Given the description of an element on the screen output the (x, y) to click on. 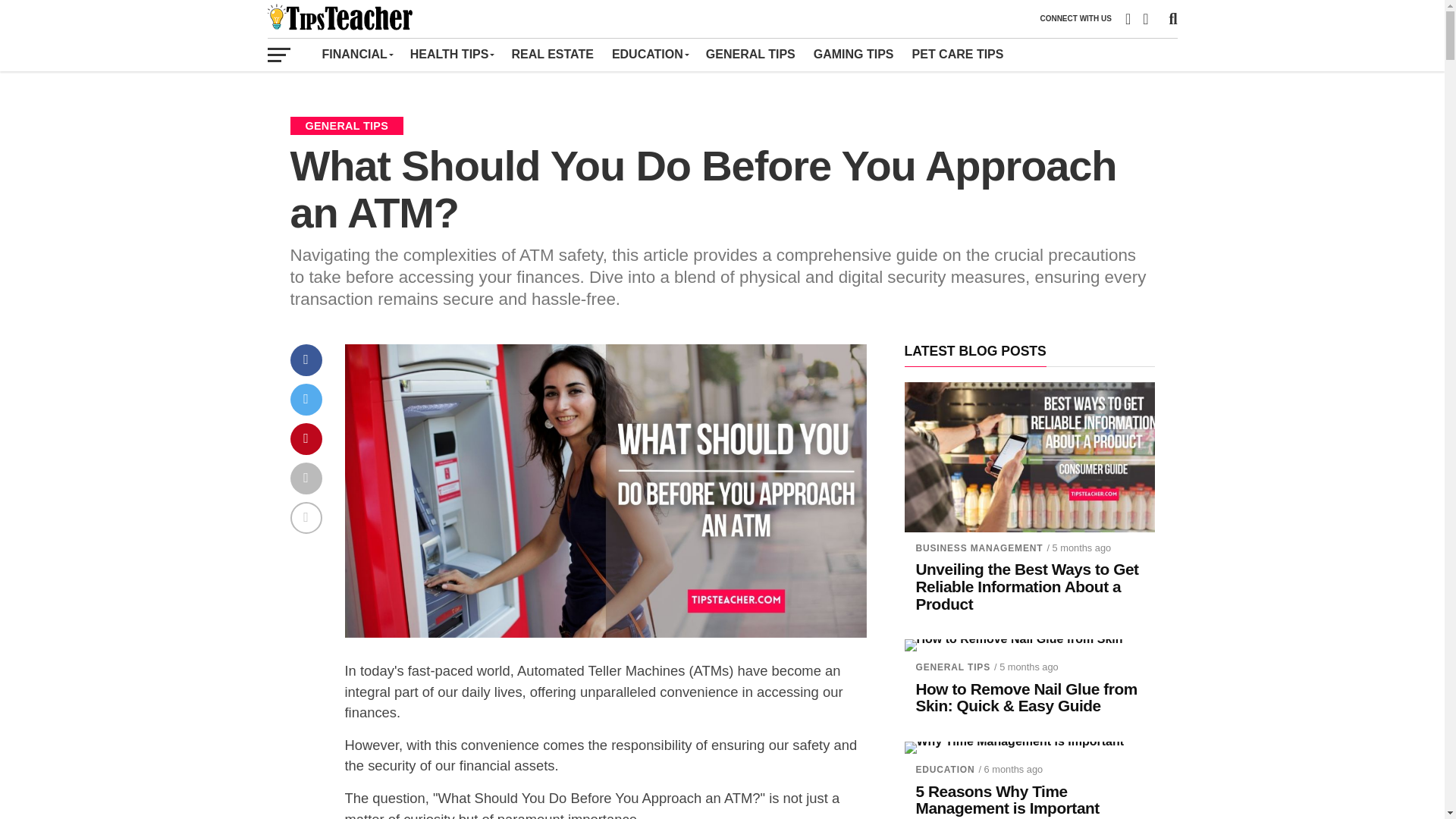
HEALTH TIPS (451, 54)
EDUCATION (649, 54)
REAL ESTATE (552, 54)
PET CARE TIPS (957, 54)
FINANCIAL (356, 54)
GENERAL TIPS (751, 54)
GAMING TIPS (853, 54)
